Given the description of an element on the screen output the (x, y) to click on. 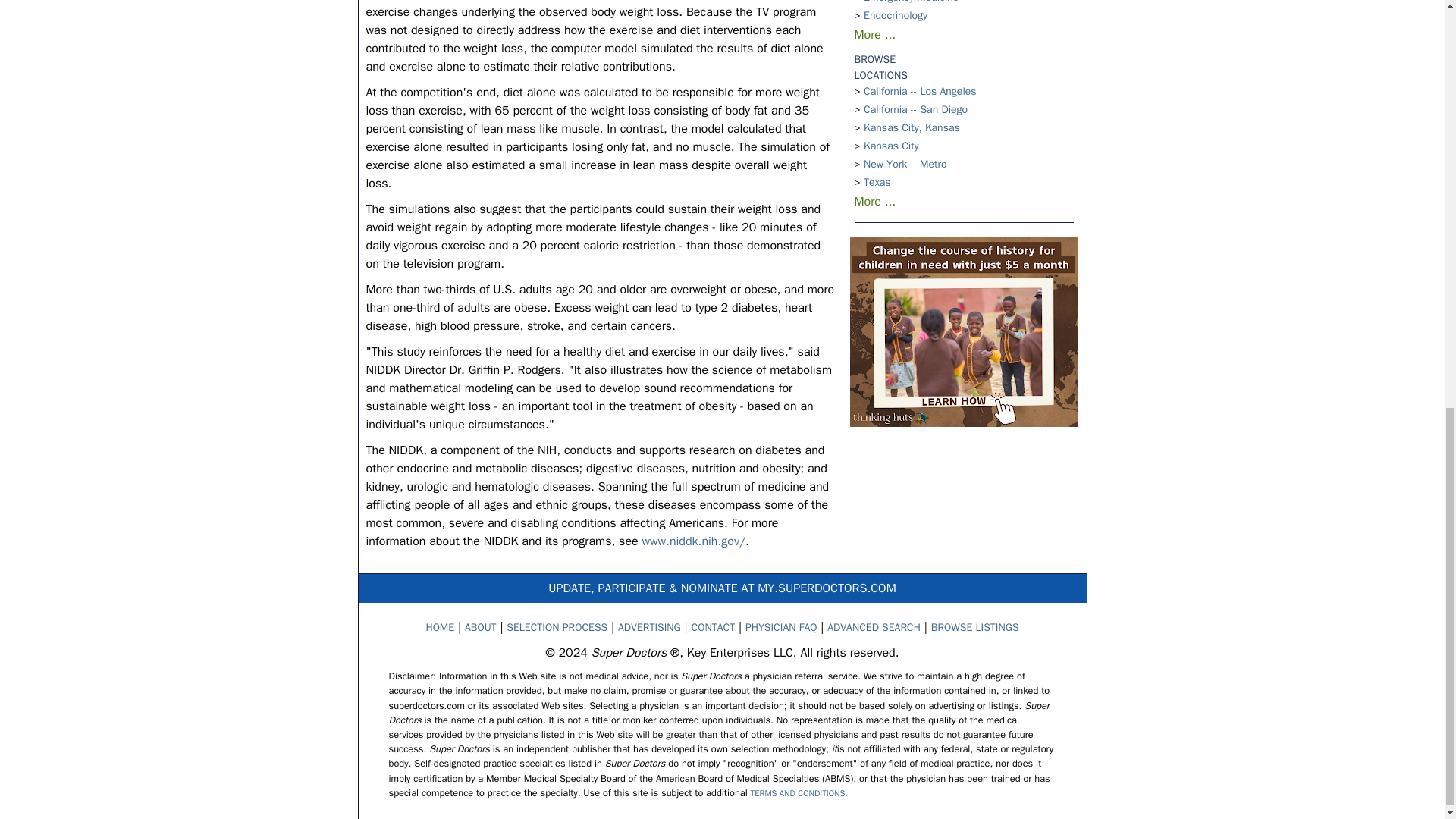
TERMS AND CONDITIONS. (799, 792)
New York -- Metro (904, 164)
Selection Process (556, 626)
California -- Los Angeles (919, 91)
More ... (874, 34)
ABOUT (480, 626)
California -- San Diego (915, 109)
Contact (713, 626)
Endocrinology (895, 15)
PHYSICIAN FAQ (780, 626)
Advertising (649, 626)
Home (439, 626)
Kansas City (890, 145)
3rd party ad content (963, 331)
About (480, 626)
